Given the description of an element on the screen output the (x, y) to click on. 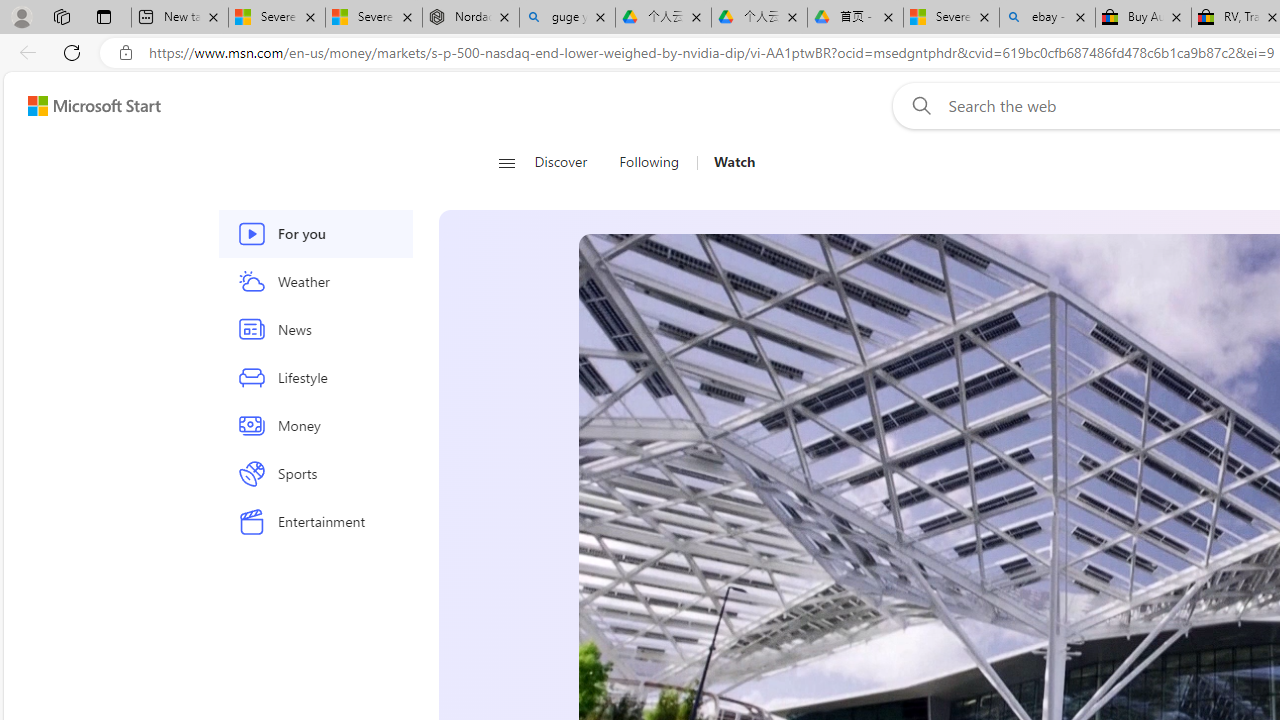
Skip to footer (82, 105)
Open navigation menu (506, 162)
guge yunpan - Search (567, 17)
